Given the description of an element on the screen output the (x, y) to click on. 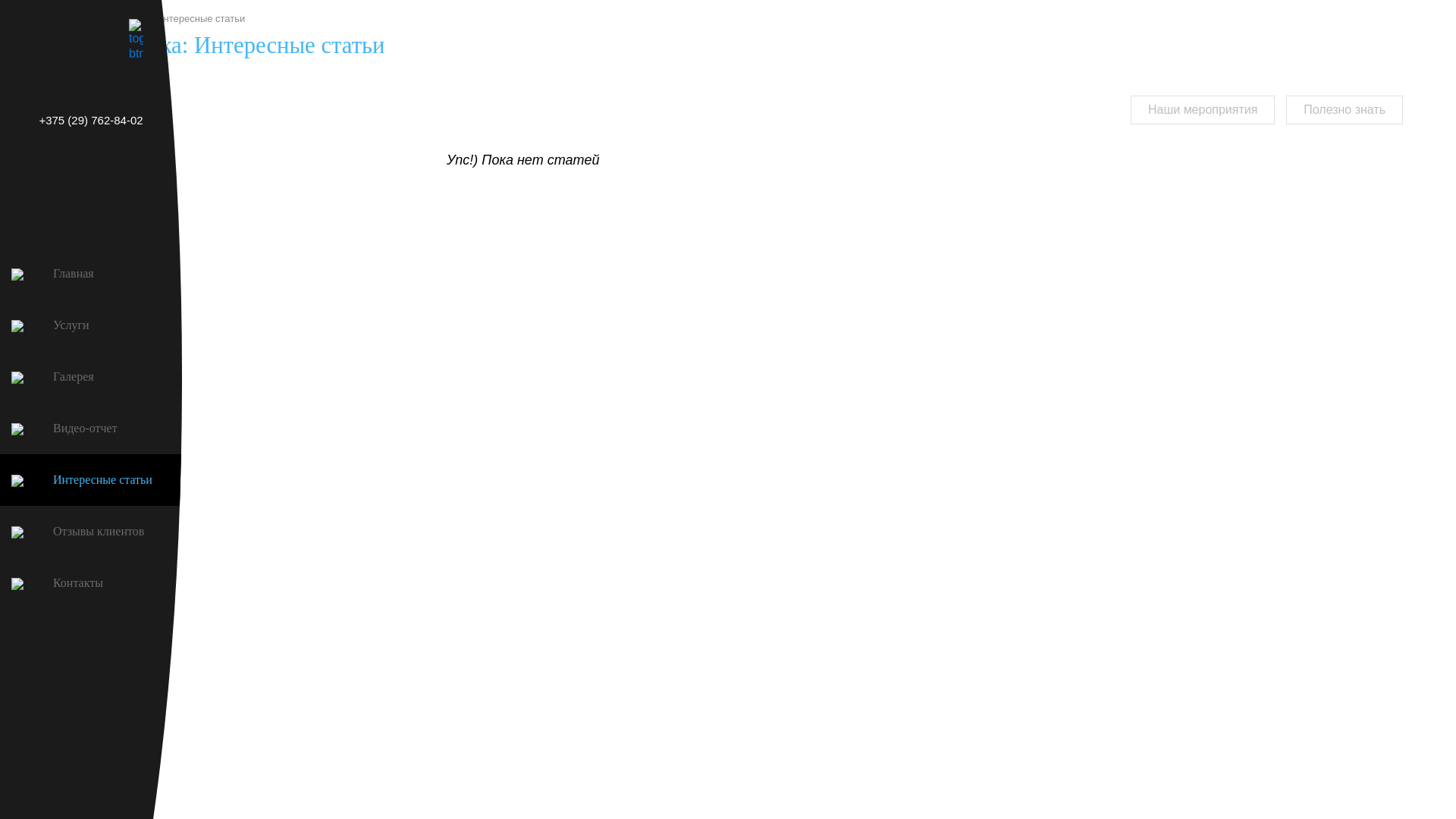
+375 (29) 762-84-02 Element type: text (91, 120)
